Given the description of an element on the screen output the (x, y) to click on. 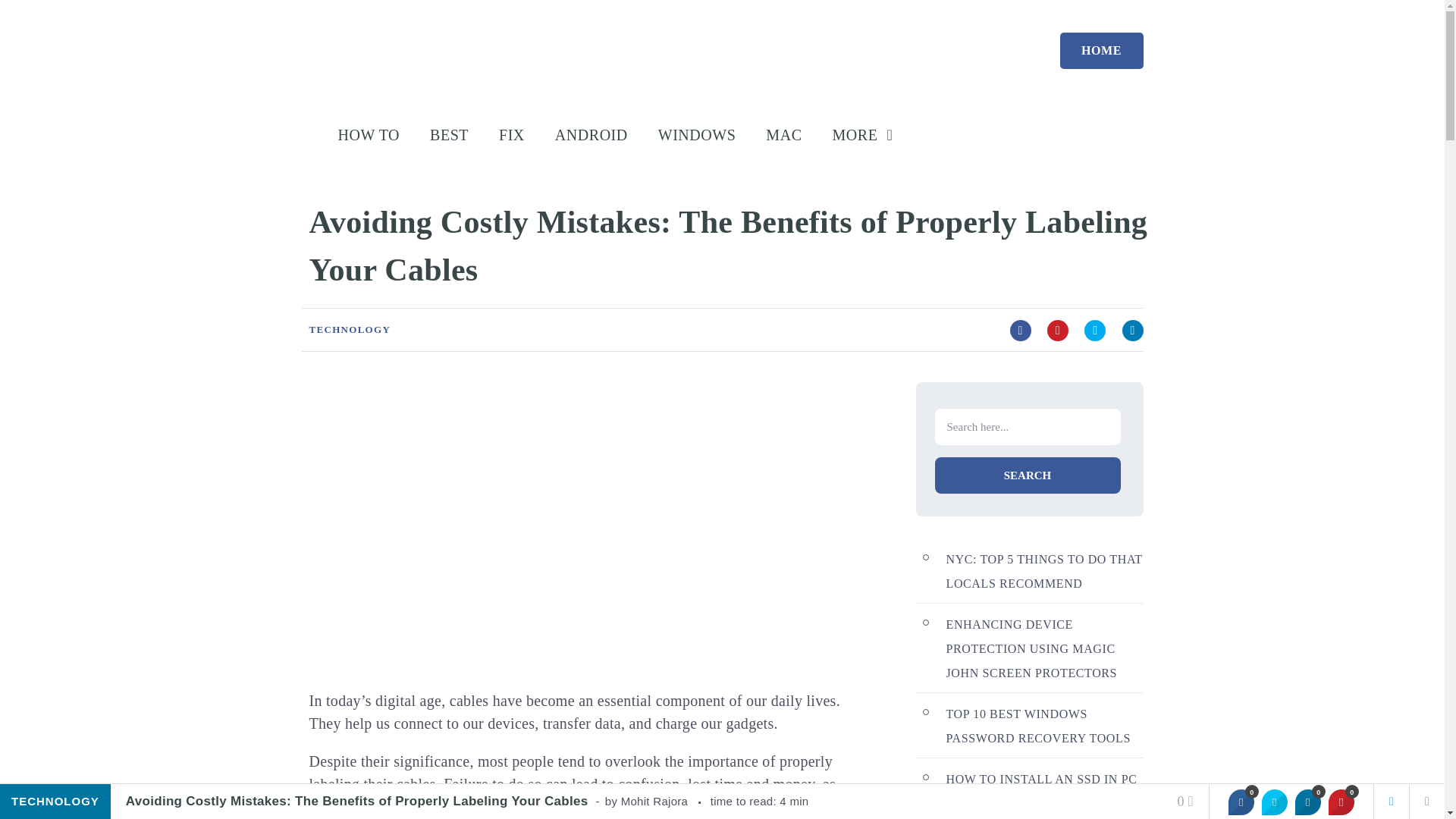
MAC (783, 136)
MORE (870, 136)
HOW TO (368, 136)
WINDOWS (697, 136)
NYC: TOP 5 THINGS TO DO THAT LOCALS RECOMMEND (1044, 570)
TOP 10 BEST WINDOWS PASSWORD RECOVERY TOOLS (1038, 725)
View all posts in Technology (349, 328)
FIX (511, 136)
BEST (448, 136)
